Given the description of an element on the screen output the (x, y) to click on. 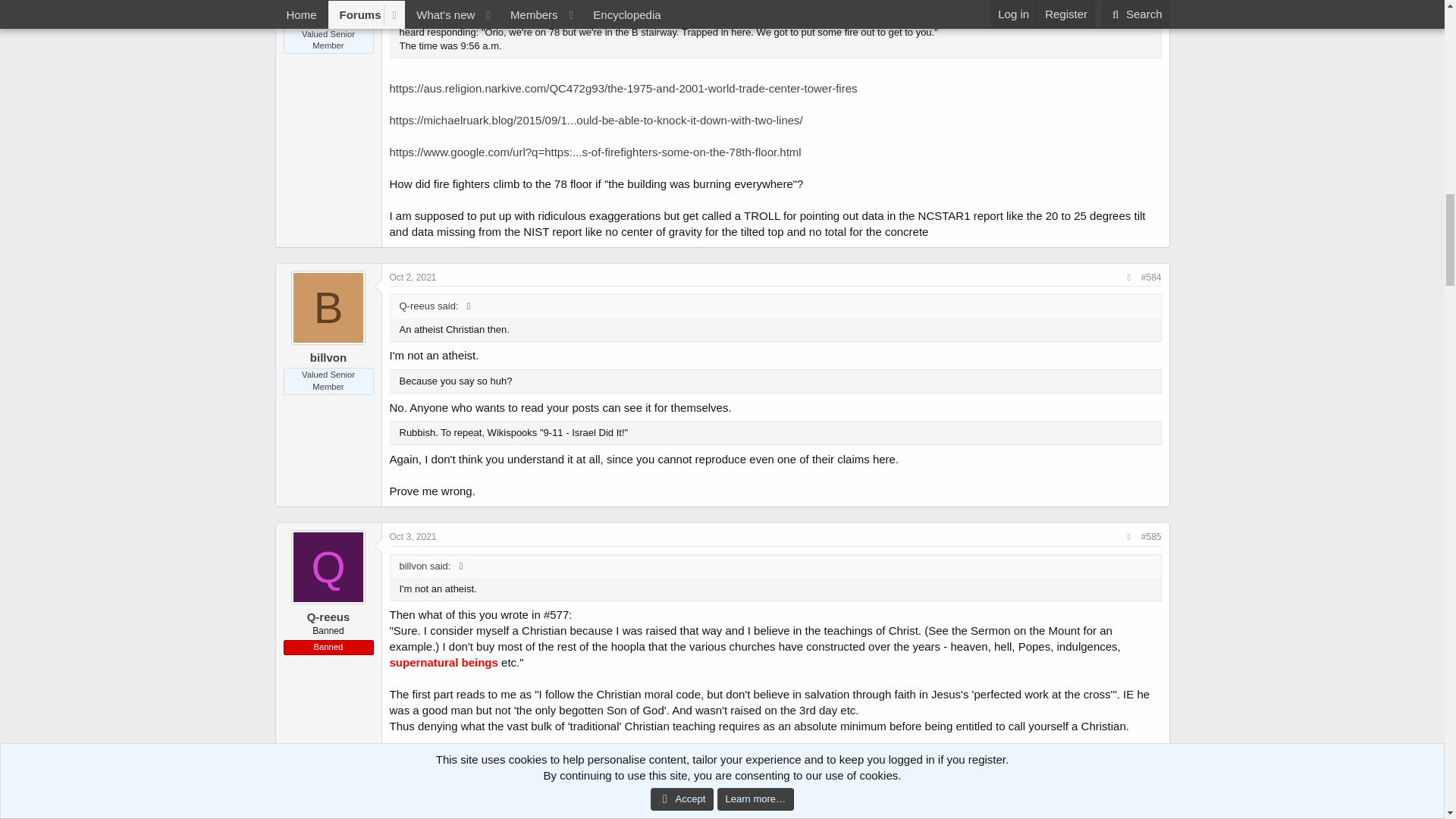
Oct 2, 2021 at 7:41 PM (413, 276)
Oct 3, 2021 at 3:59 AM (413, 536)
